Given the description of an element on the screen output the (x, y) to click on. 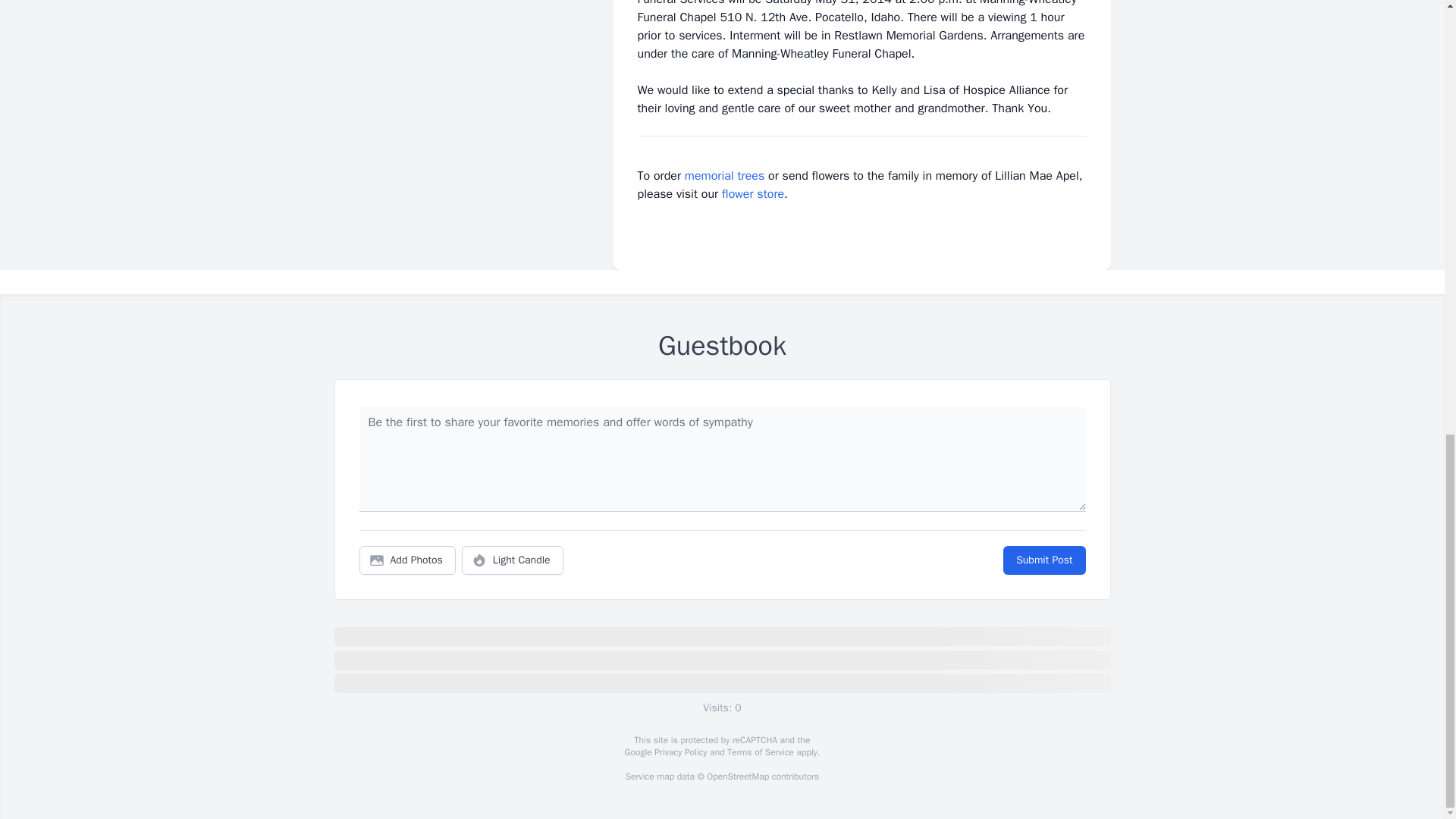
Submit Post (1043, 560)
Light Candle (512, 560)
Terms of Service (759, 752)
Add Photos (407, 560)
flower store (753, 193)
OpenStreetMap (737, 776)
memorial trees (724, 175)
Privacy Policy (679, 752)
